Given the description of an element on the screen output the (x, y) to click on. 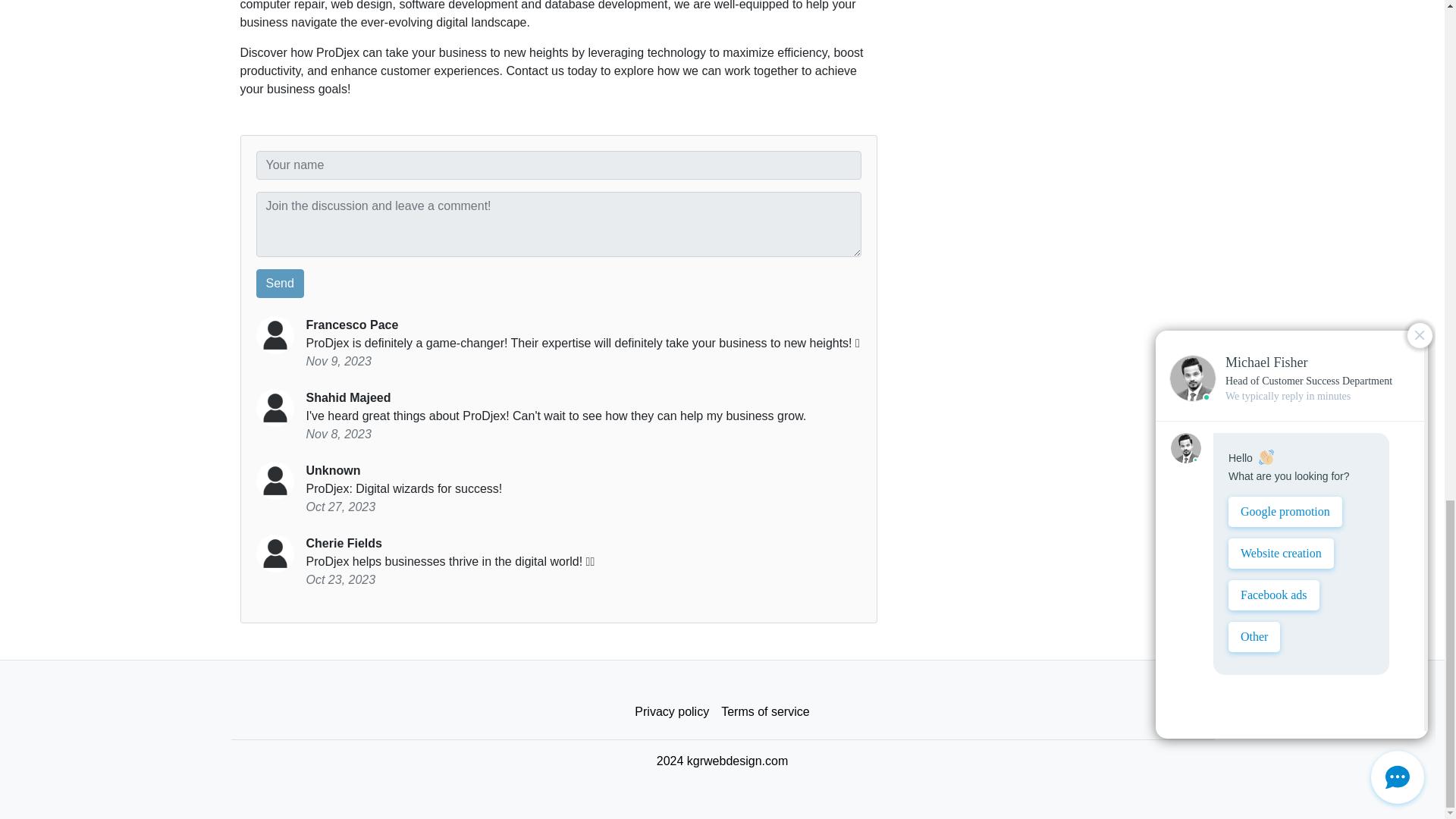
Send (280, 283)
Privacy policy (671, 711)
Terms of service (764, 711)
Send (280, 283)
